Given the description of an element on the screen output the (x, y) to click on. 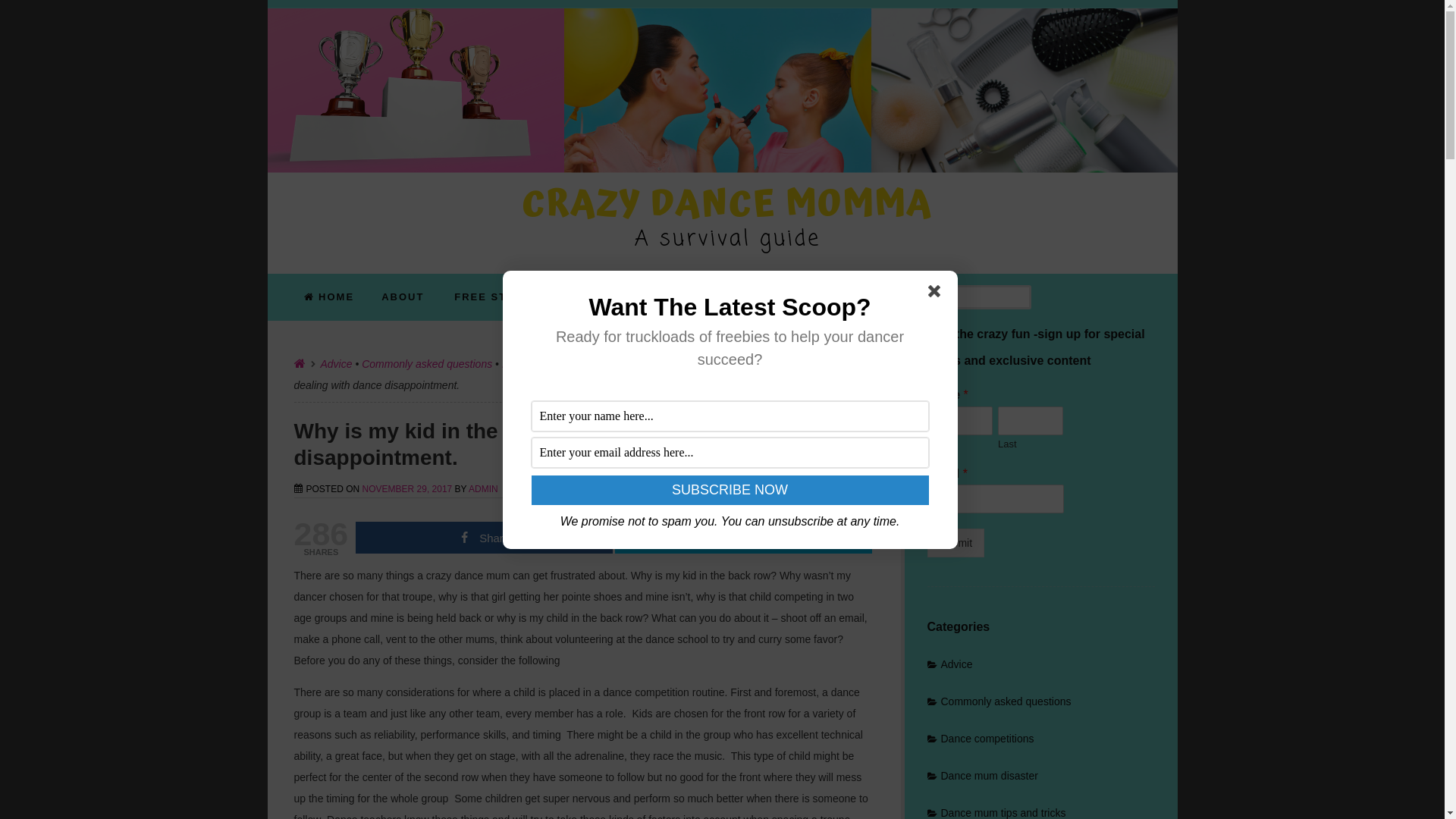
HOME Element type: text (328, 296)
Advice Element type: text (949, 664)
Close optin form Element type: hover (937, 294)
NOVEMBER 29, 2017 Element type: text (407, 488)
Subscribe Now Element type: text (729, 489)
Tweet Element type: text (743, 537)
Search Element type: text (22, 9)
STORE Element type: text (580, 296)
Dance mum wisdom Element type: text (653, 363)
Submit Element type: text (955, 542)
ABOUT Element type: text (402, 296)
Commonly asked questions Element type: text (998, 701)
Dance mum disaster Element type: text (981, 775)
Dance competitions Element type: text (979, 738)
ADMIN Element type: text (483, 488)
Take Action Now! Element type: text (225, 14)
Commonly asked questions Element type: text (426, 363)
Dance competitions Element type: text (548, 363)
FREE STUFF Element type: text (491, 296)
Share Element type: text (483, 537)
Advice Element type: text (335, 363)
